Given the description of an element on the screen output the (x, y) to click on. 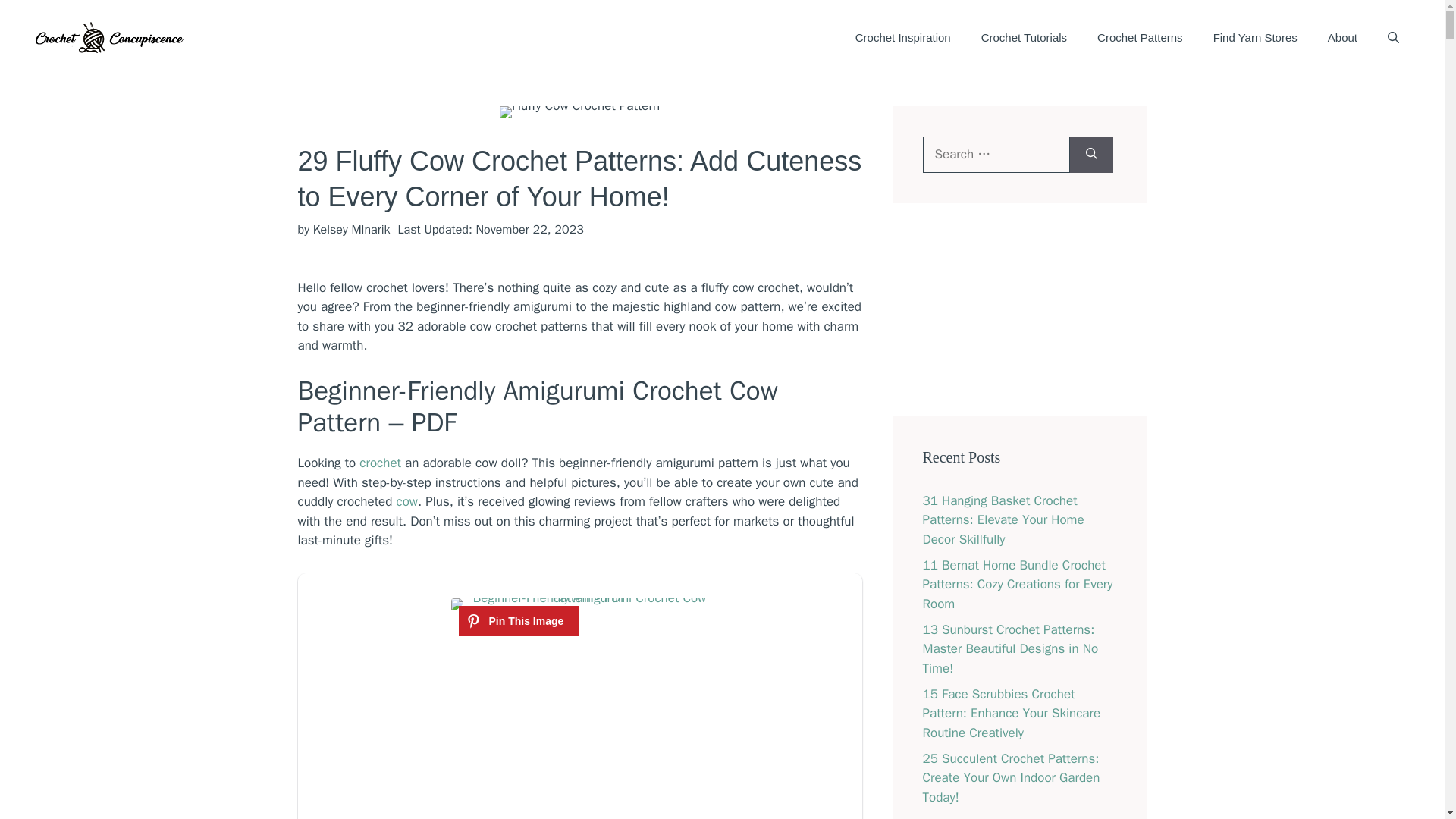
cow (407, 501)
Crochet Tutorials (1023, 37)
About (1343, 37)
Find Yarn Stores (1255, 37)
Pin This Image (518, 621)
cow (407, 501)
Beginner-Friendly Amigurumi Crochet Cow Pattern - PDF (582, 601)
Crochet Patterns (1139, 37)
